Given the description of an element on the screen output the (x, y) to click on. 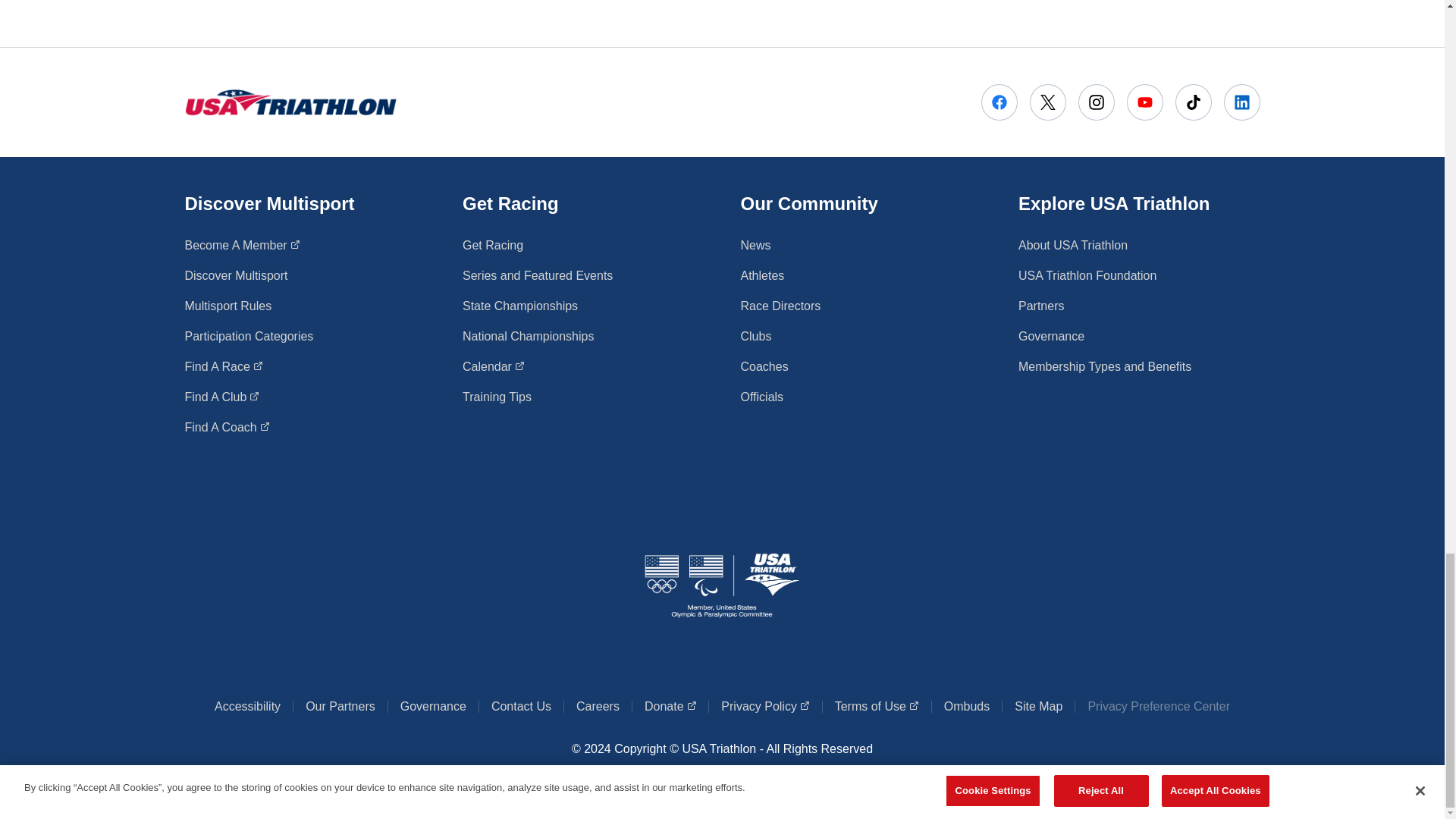
Go to Facebook (999, 102)
State Championships (520, 306)
National Championships (528, 336)
Training Tips (226, 427)
Discover Multisport (222, 397)
Get Racing (497, 397)
Participation Categories (236, 275)
Go to Twitter (492, 245)
News (249, 336)
Go to LinkedIn (1047, 102)
